Given the description of an element on the screen output the (x, y) to click on. 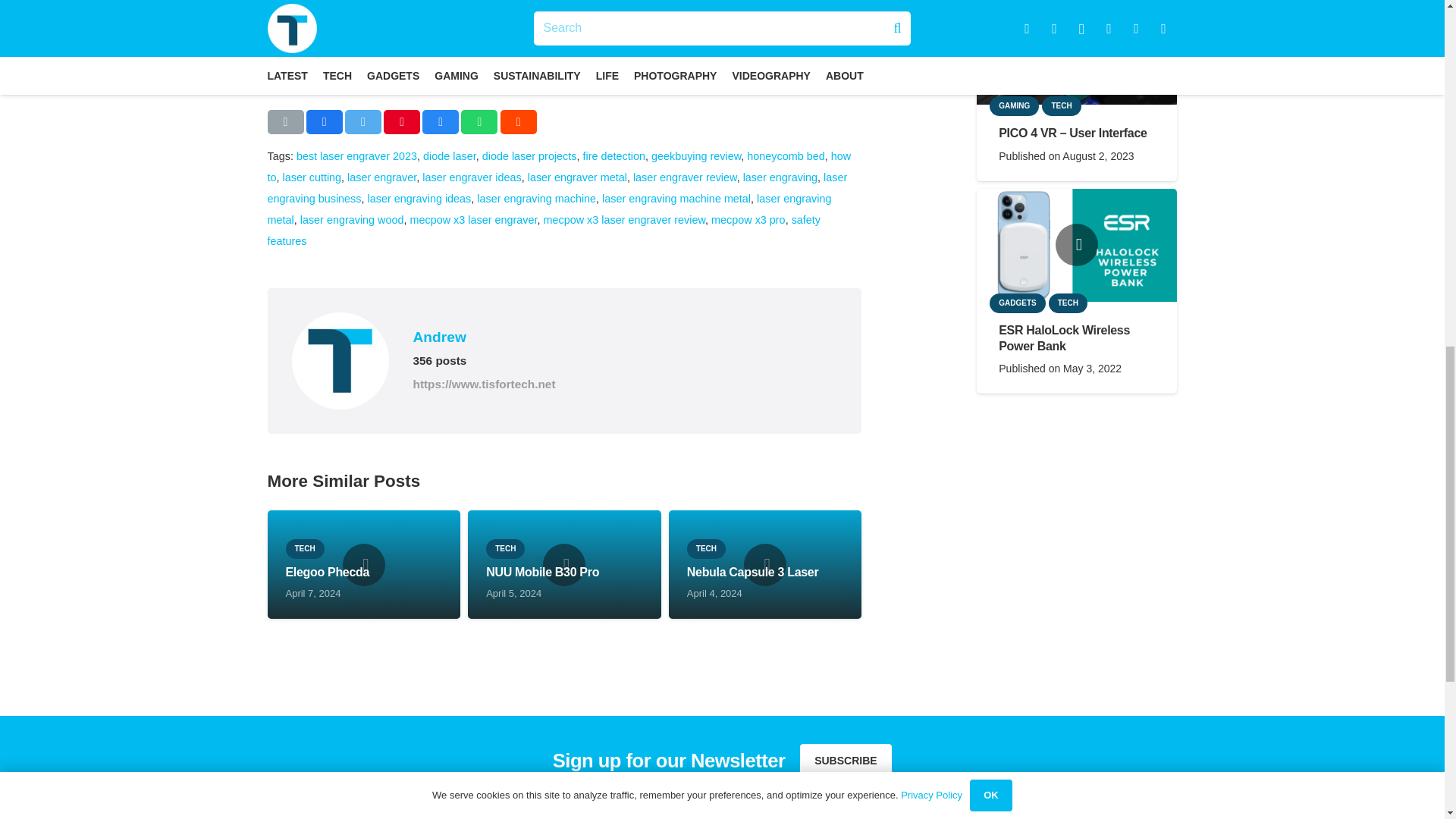
how to (558, 166)
Share this (440, 121)
Pin this (402, 121)
Share this (518, 121)
laser cutting (312, 177)
laser engraver (381, 177)
Email this (284, 121)
honeycomb bed (785, 155)
Share this (323, 121)
Share this (479, 121)
diode laser (449, 155)
laser engraver metal (577, 177)
Tweet this (363, 121)
diode laser projects (528, 155)
fire detection (614, 155)
